Given the description of an element on the screen output the (x, y) to click on. 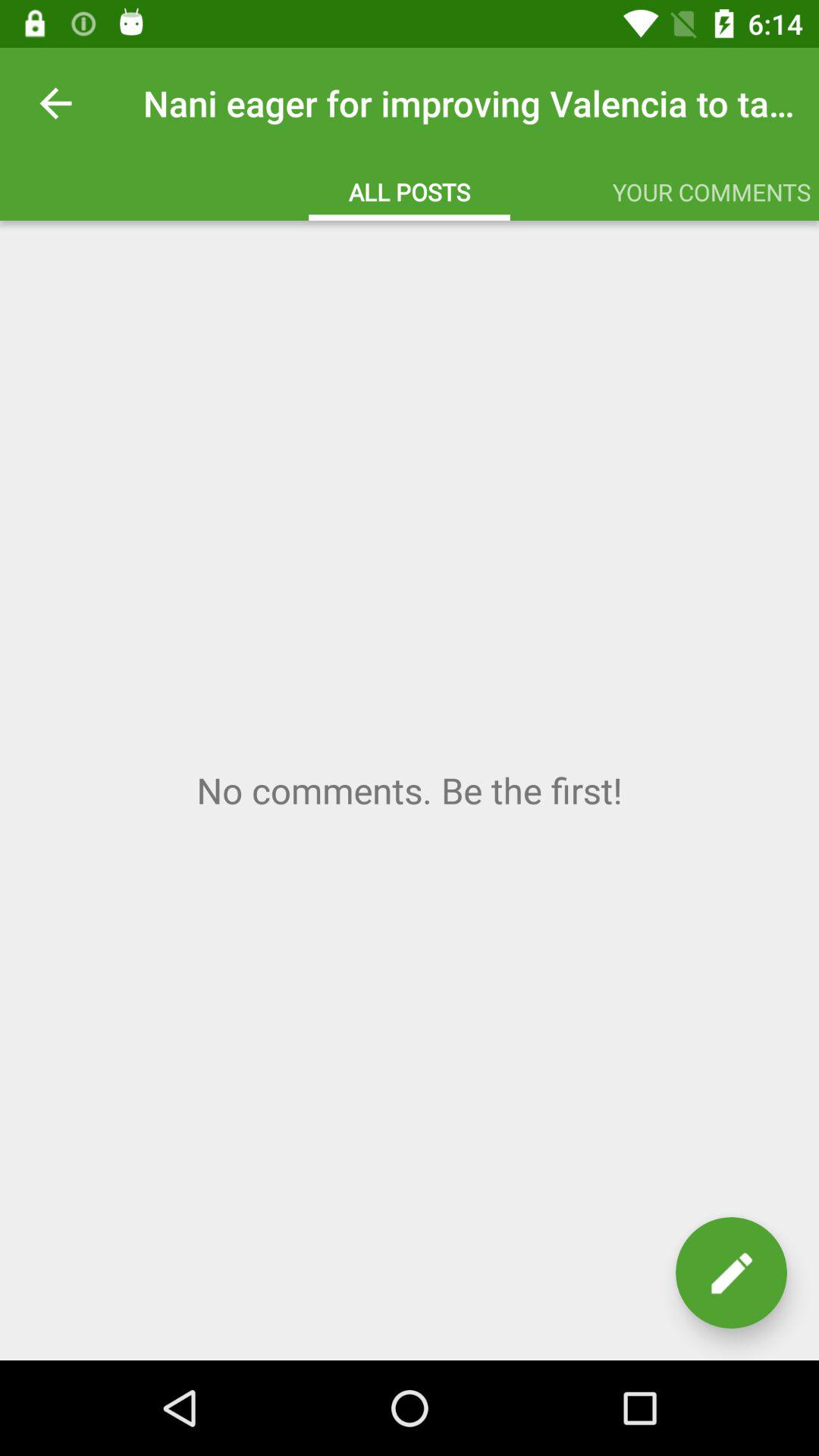
press item below the no comments be item (731, 1272)
